Given the description of an element on the screen output the (x, y) to click on. 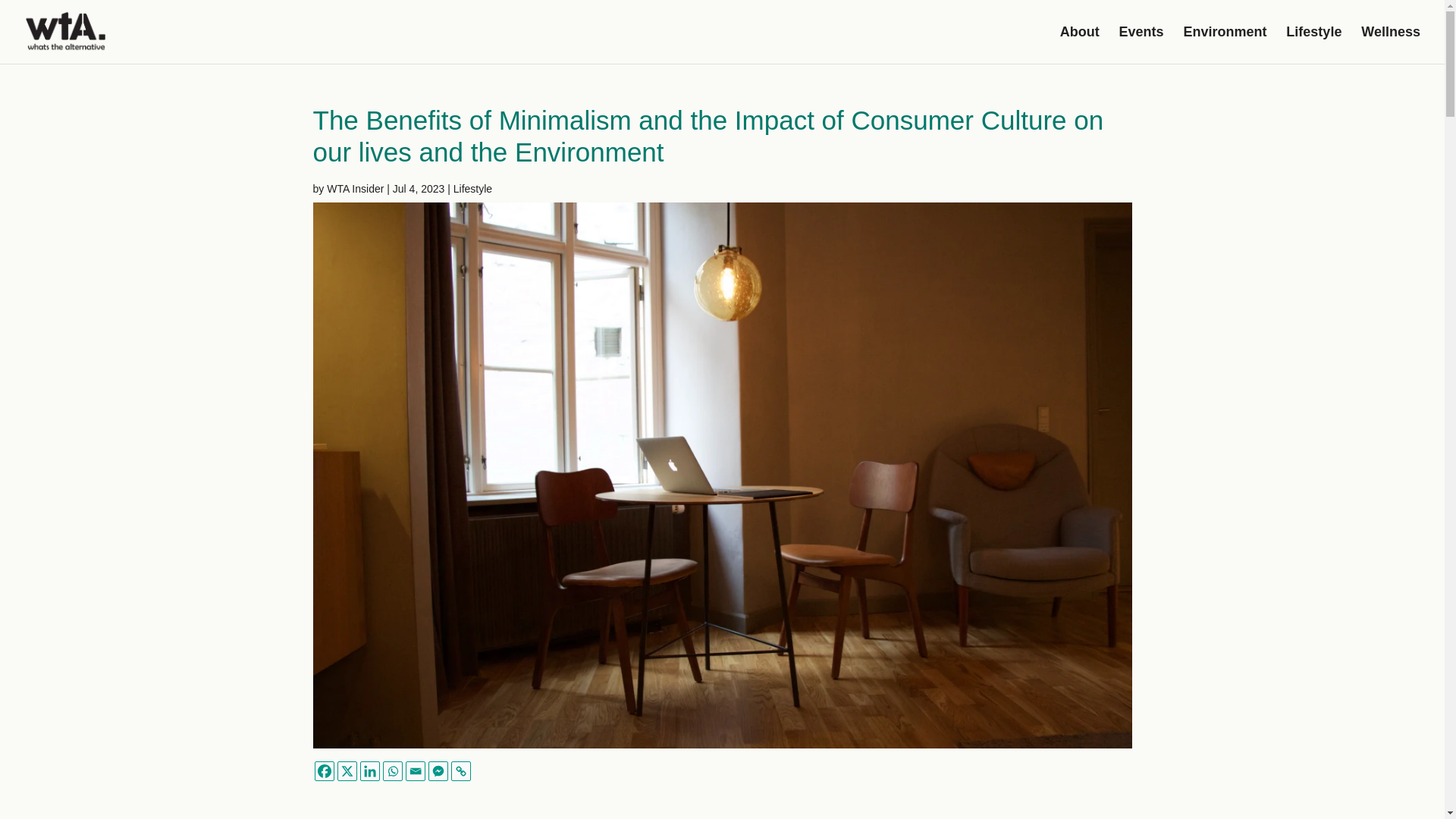
Lifestyle (1312, 44)
Email (414, 771)
X (346, 771)
WTA Insider (355, 188)
Facebook (323, 771)
Posts by WTA Insider (355, 188)
Whatsapp (391, 771)
Environment (1224, 44)
Wellness (1391, 44)
About (1079, 44)
Events (1141, 44)
Linkedin (368, 771)
Lifestyle (472, 188)
Copy Link (459, 771)
